Given the description of an element on the screen output the (x, y) to click on. 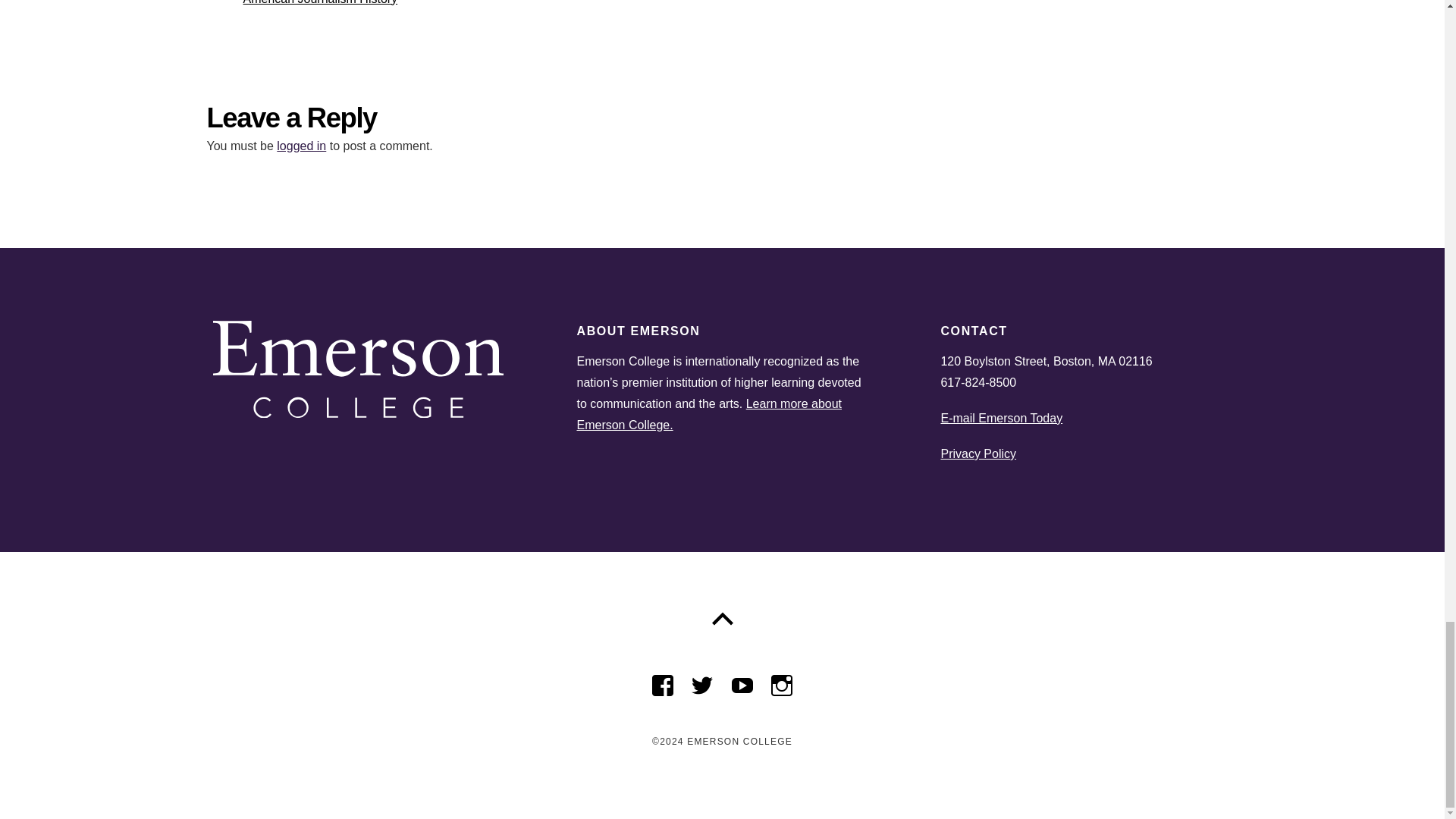
logged in (706, 3)
